Given the description of an element on the screen output the (x, y) to click on. 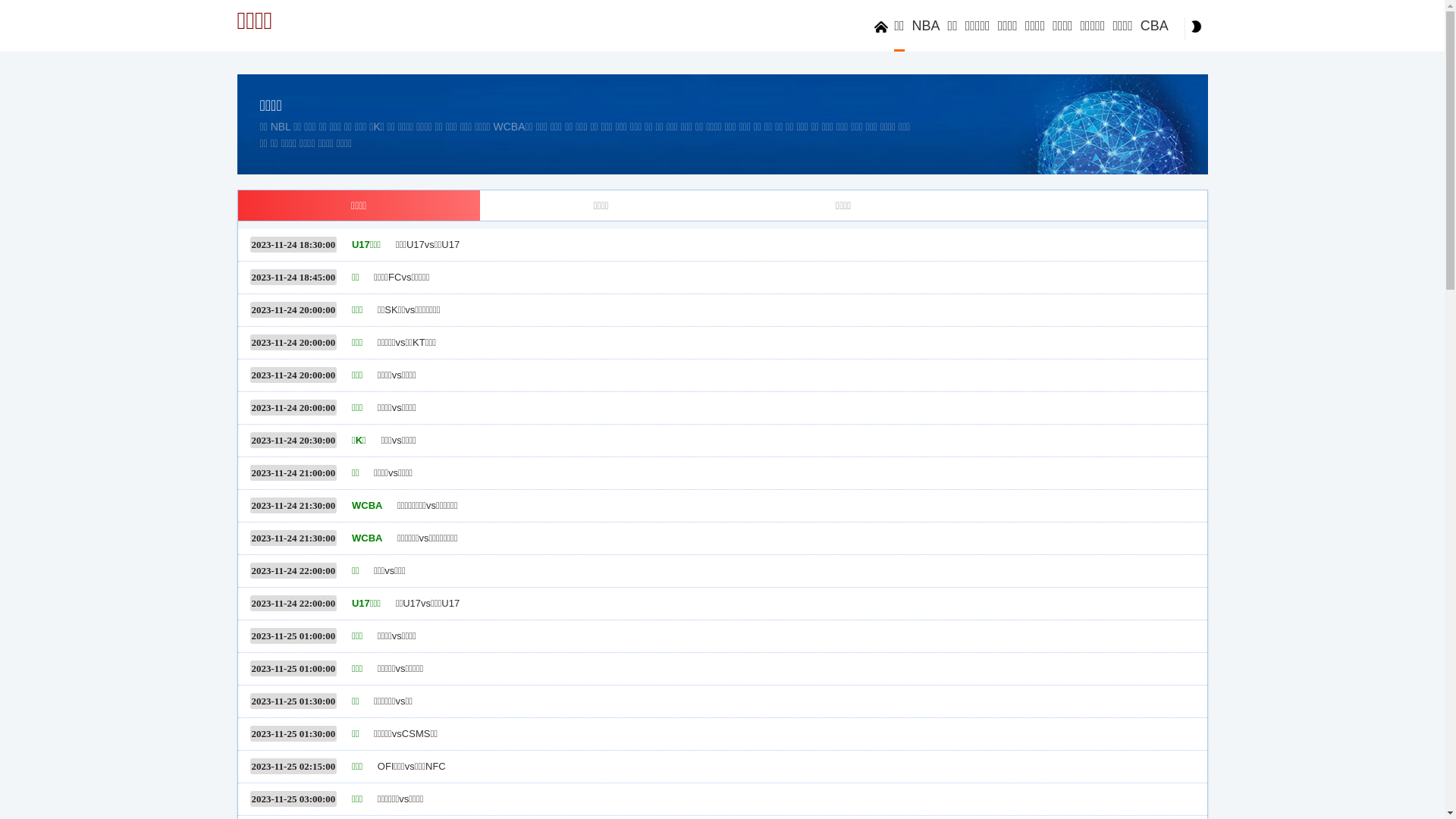
WCBA Element type: text (366, 505)
WCBA Element type: text (366, 537)
CBA Element type: text (1154, 25)
NBL Element type: text (280, 126)
NBA Element type: text (926, 25)
